Given the description of an element on the screen output the (x, y) to click on. 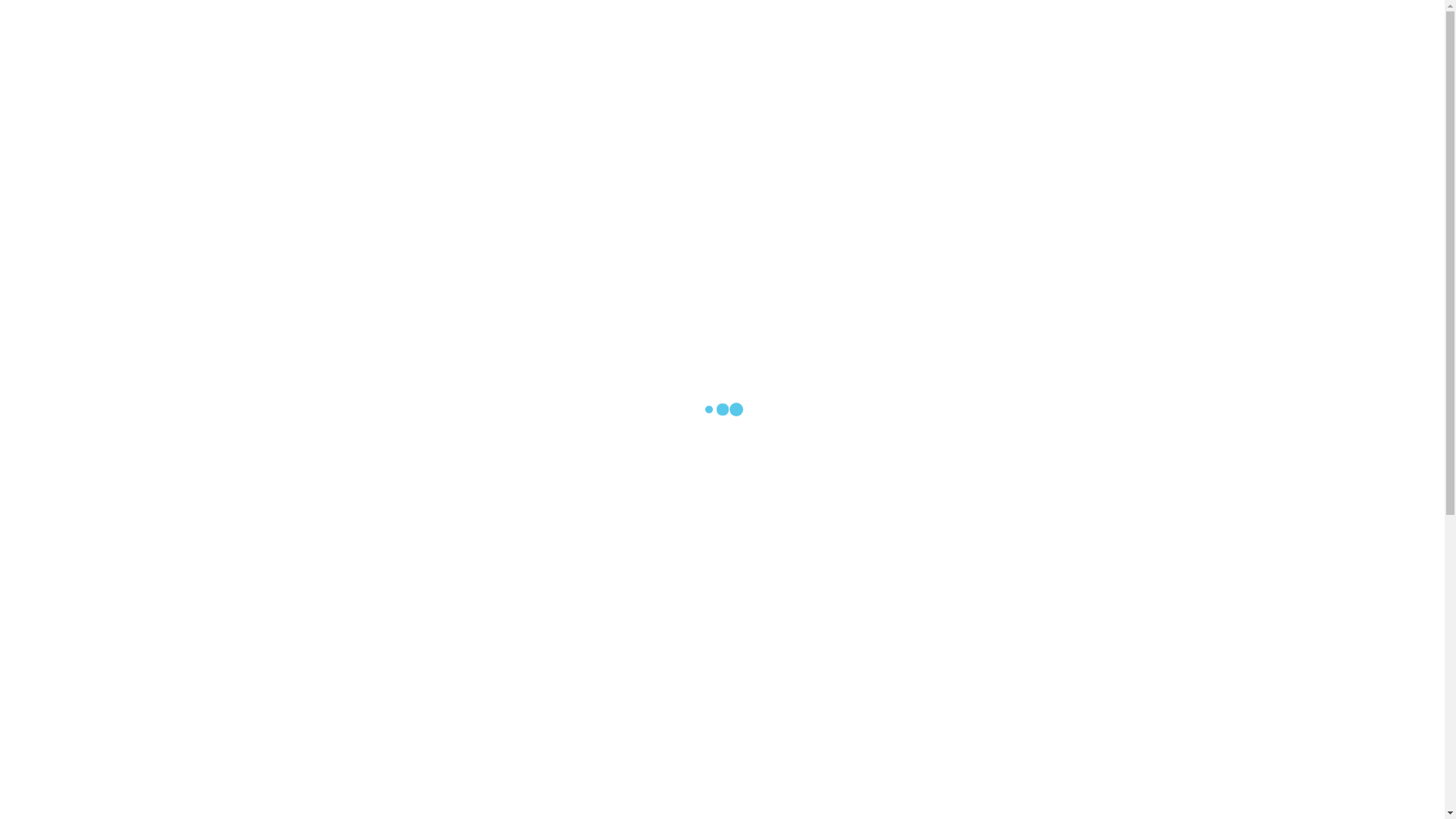
ABOUT Element type: text (472, 28)
OFFICE LOCATIONS Element type: text (577, 28)
CONTACT US Element type: text (990, 28)
ULTIMATE EYE WELLNESS BLOG Element type: text (838, 28)
SERVICES Element type: text (690, 28)
